Given the description of an element on the screen output the (x, y) to click on. 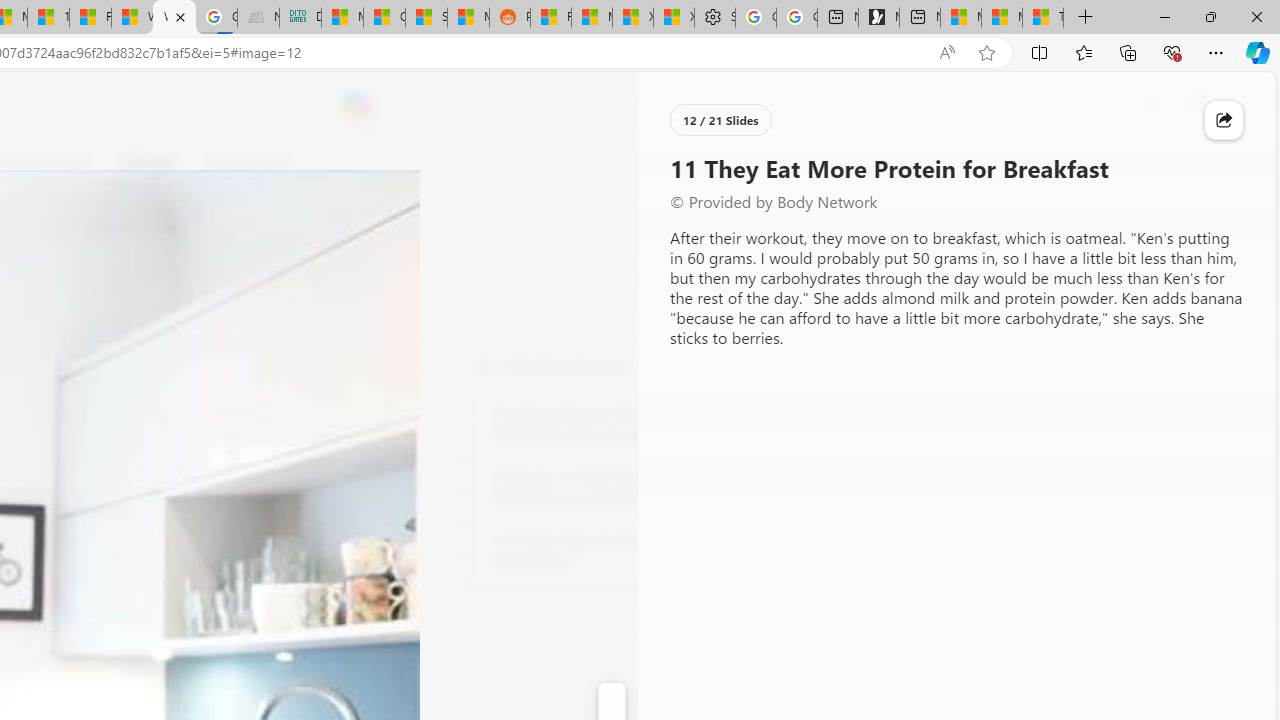
Share this story (1224, 119)
These 3 Stocks Pay You More Than 5% to Own Them (1042, 17)
Fitness - MSN (90, 17)
